Given the description of an element on the screen output the (x, y) to click on. 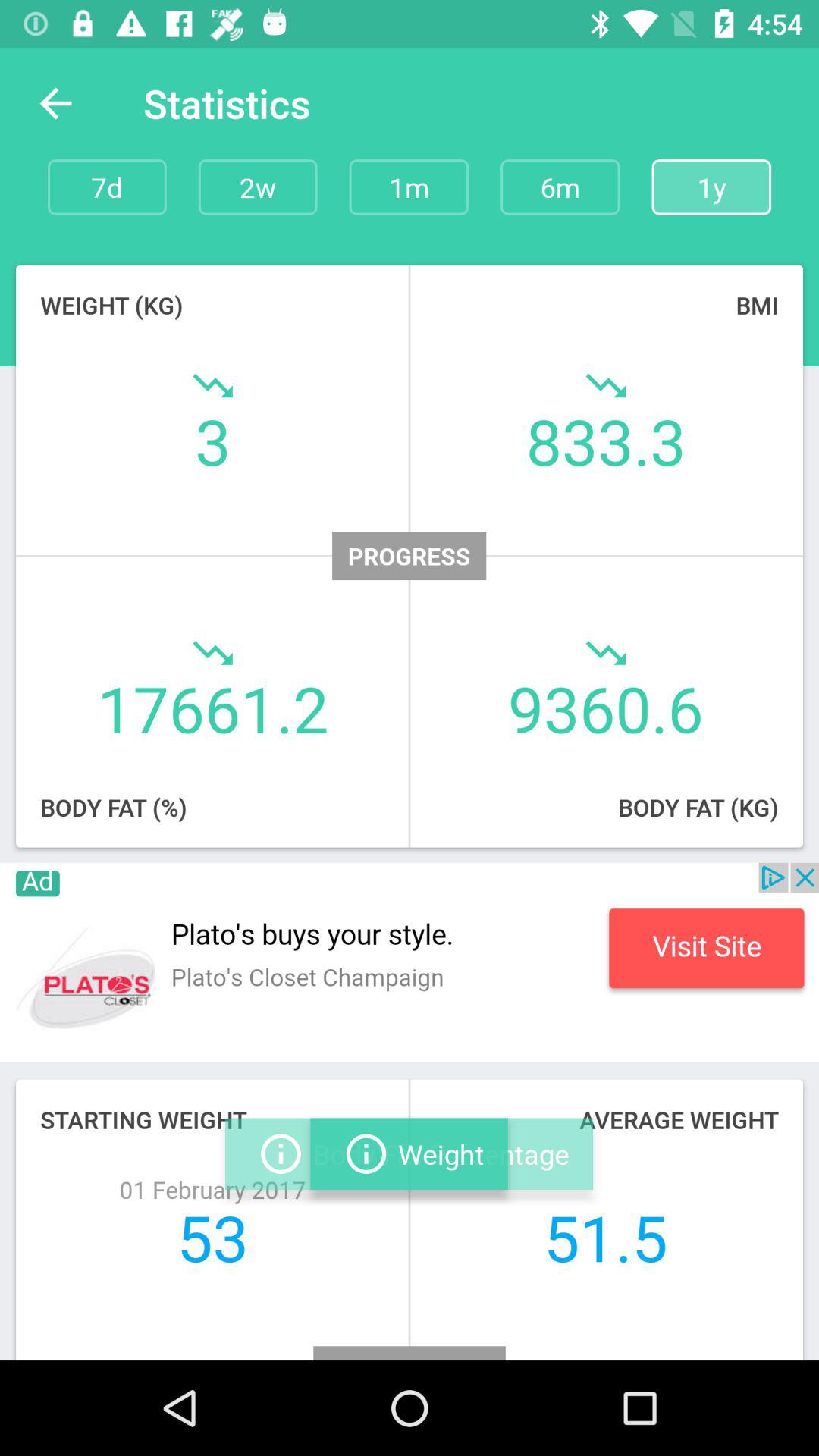
advertisement page (409, 961)
